Given the description of an element on the screen output the (x, y) to click on. 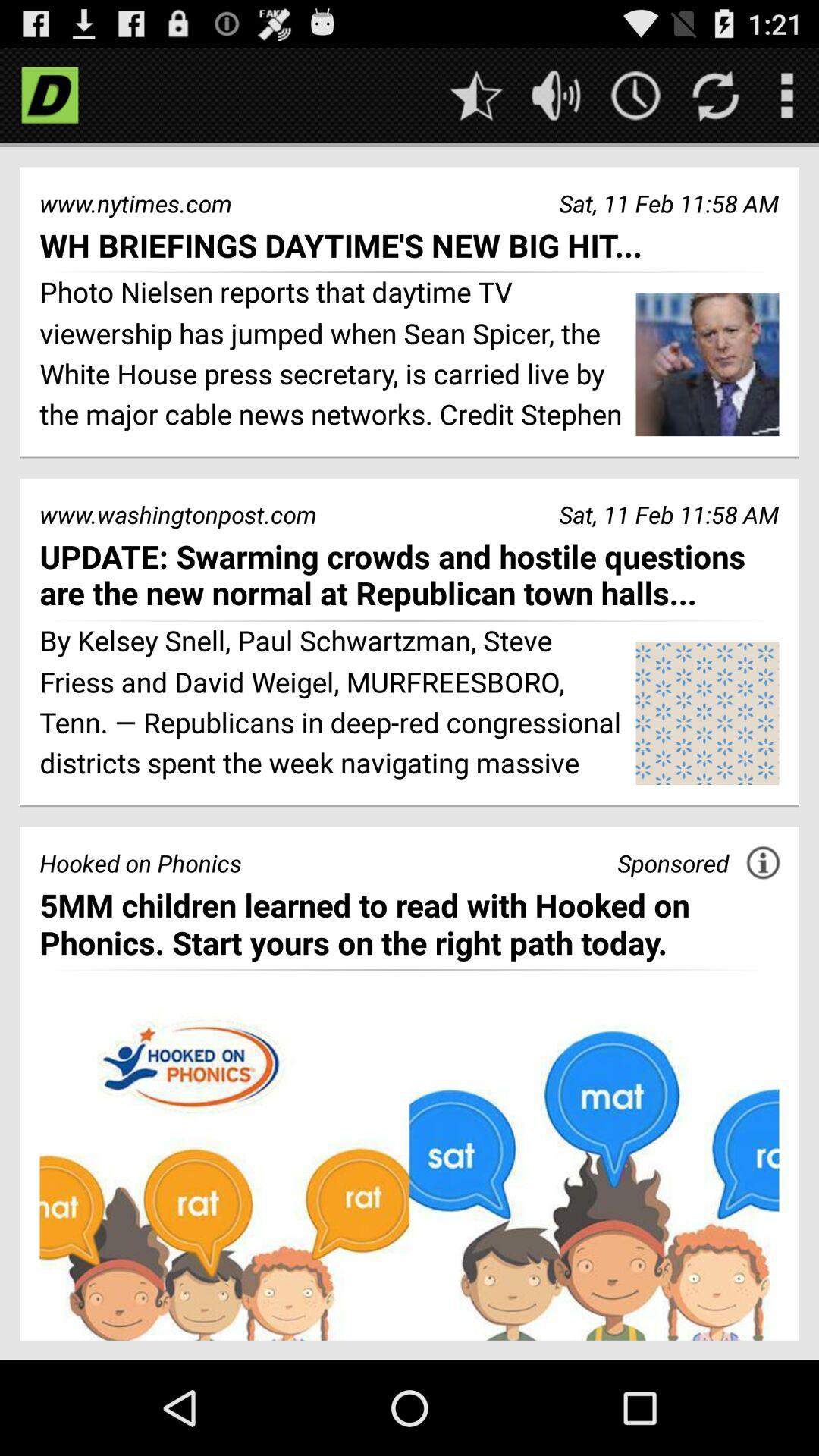
details (763, 862)
